Given the description of an element on the screen output the (x, y) to click on. 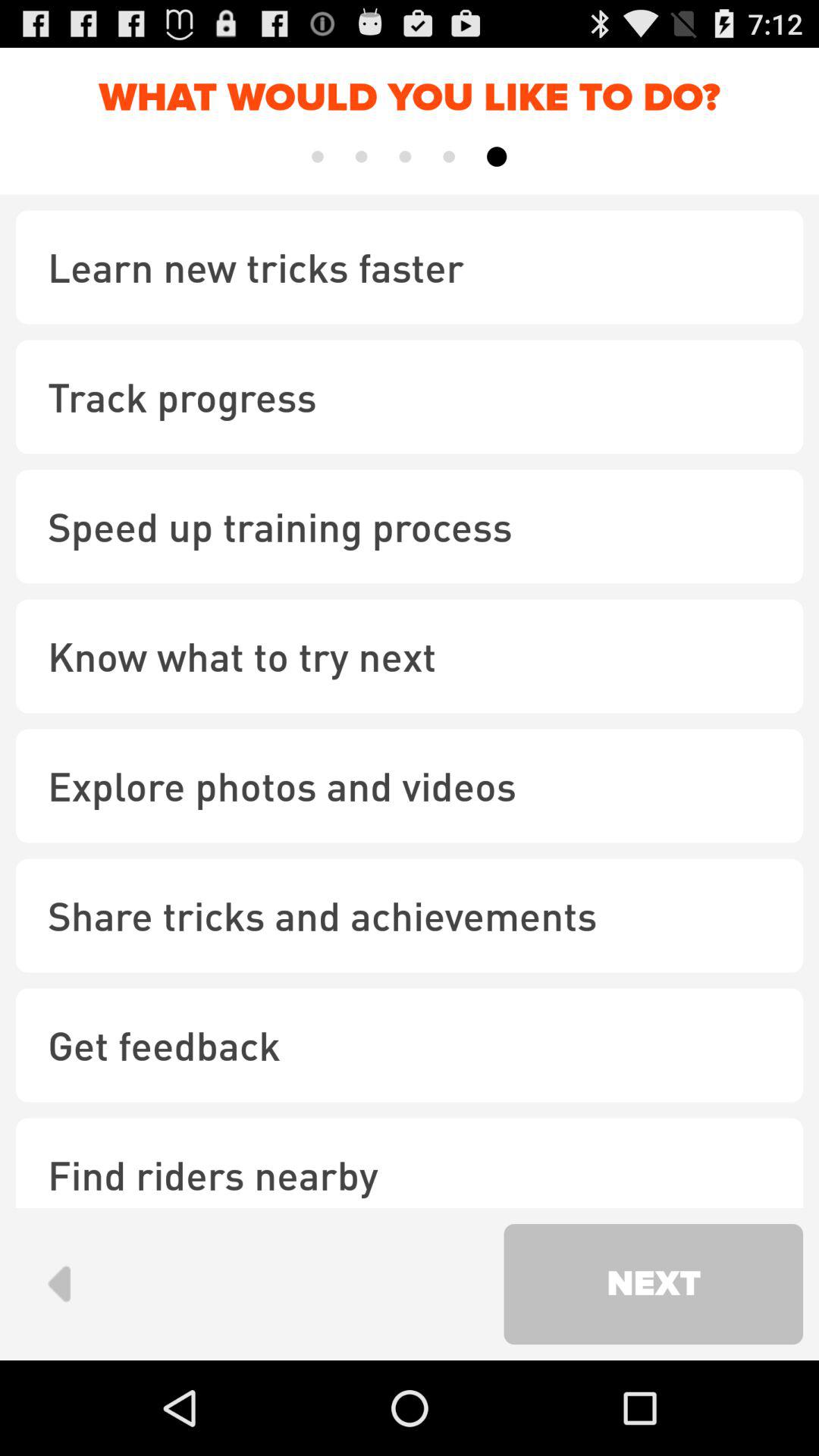
open the item below learn new tricks icon (409, 396)
